Given the description of an element on the screen output the (x, y) to click on. 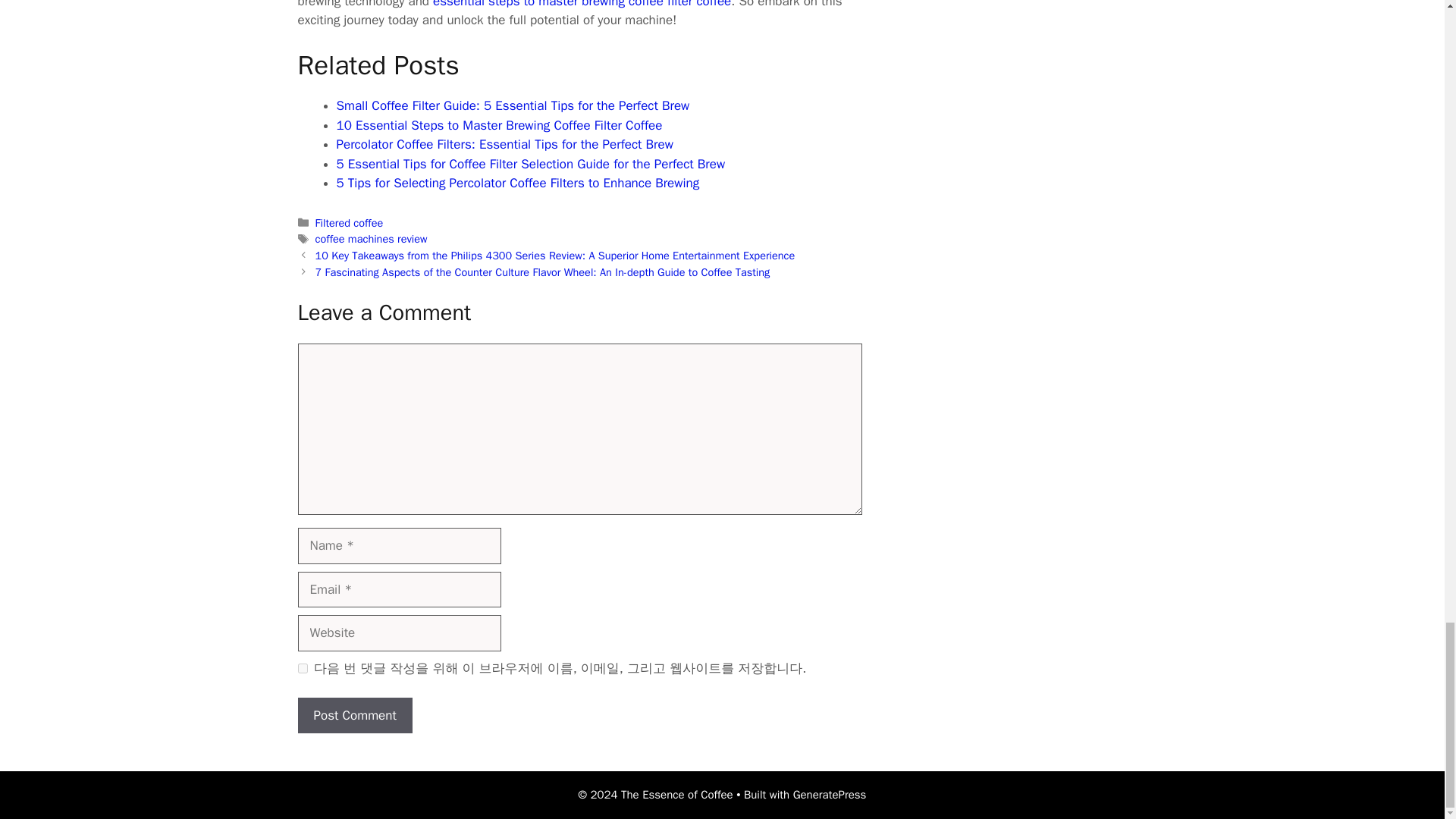
yes (302, 668)
Post Comment (354, 715)
10 Essential Steps to Master Brewing Coffee Filter Coffee (499, 125)
essential steps to master brewing coffee filter coffee (581, 4)
